Given the description of an element on the screen output the (x, y) to click on. 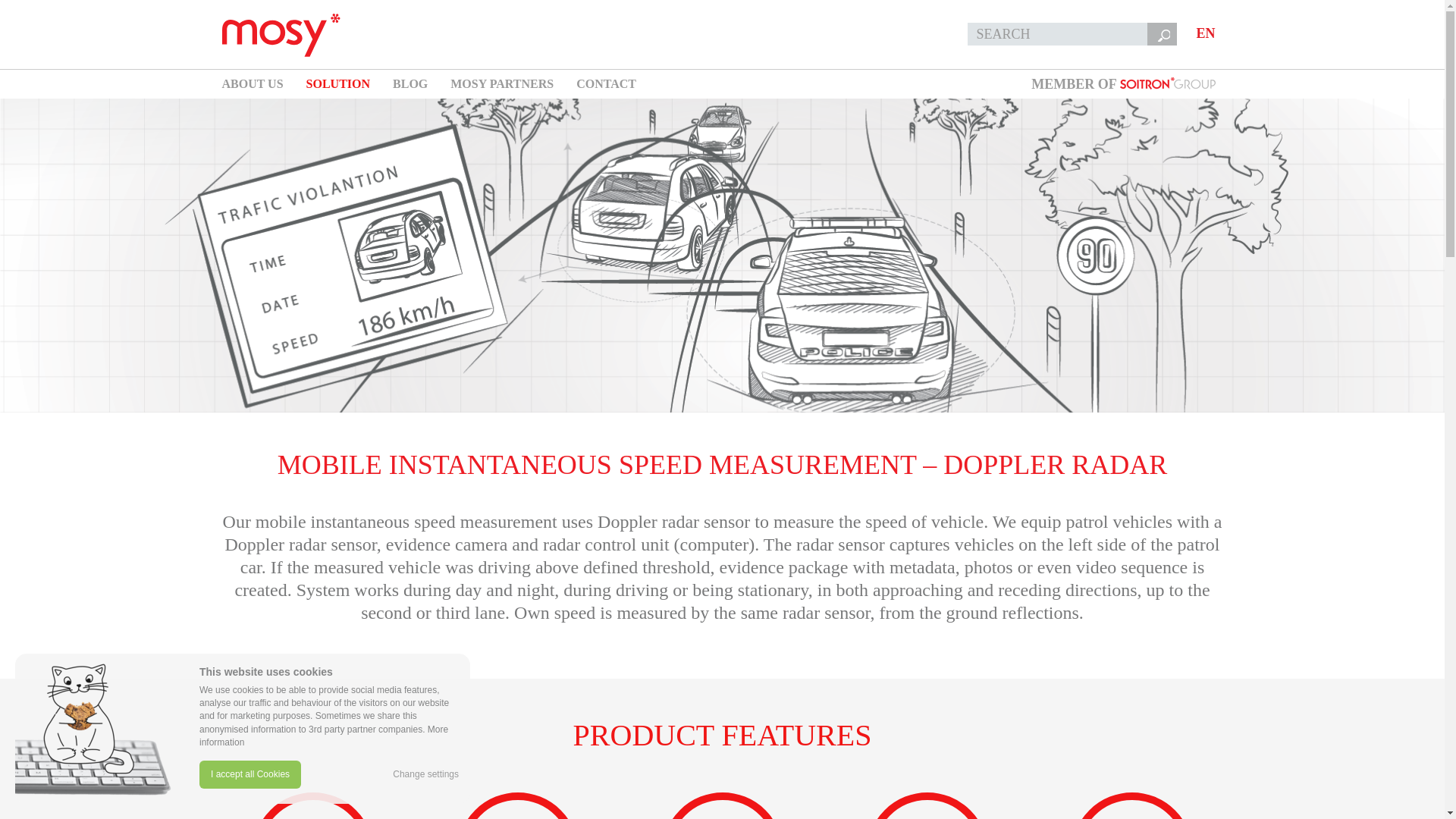
EN (1205, 34)
BLOG (410, 83)
More information (323, 735)
I accept all Cookies (250, 774)
MOSY PARTNERS (501, 83)
ABOUT US (251, 83)
CONTACT (606, 83)
Change settings (425, 774)
SOLUTION (337, 83)
MEMBER OF (1122, 83)
